Given the description of an element on the screen output the (x, y) to click on. 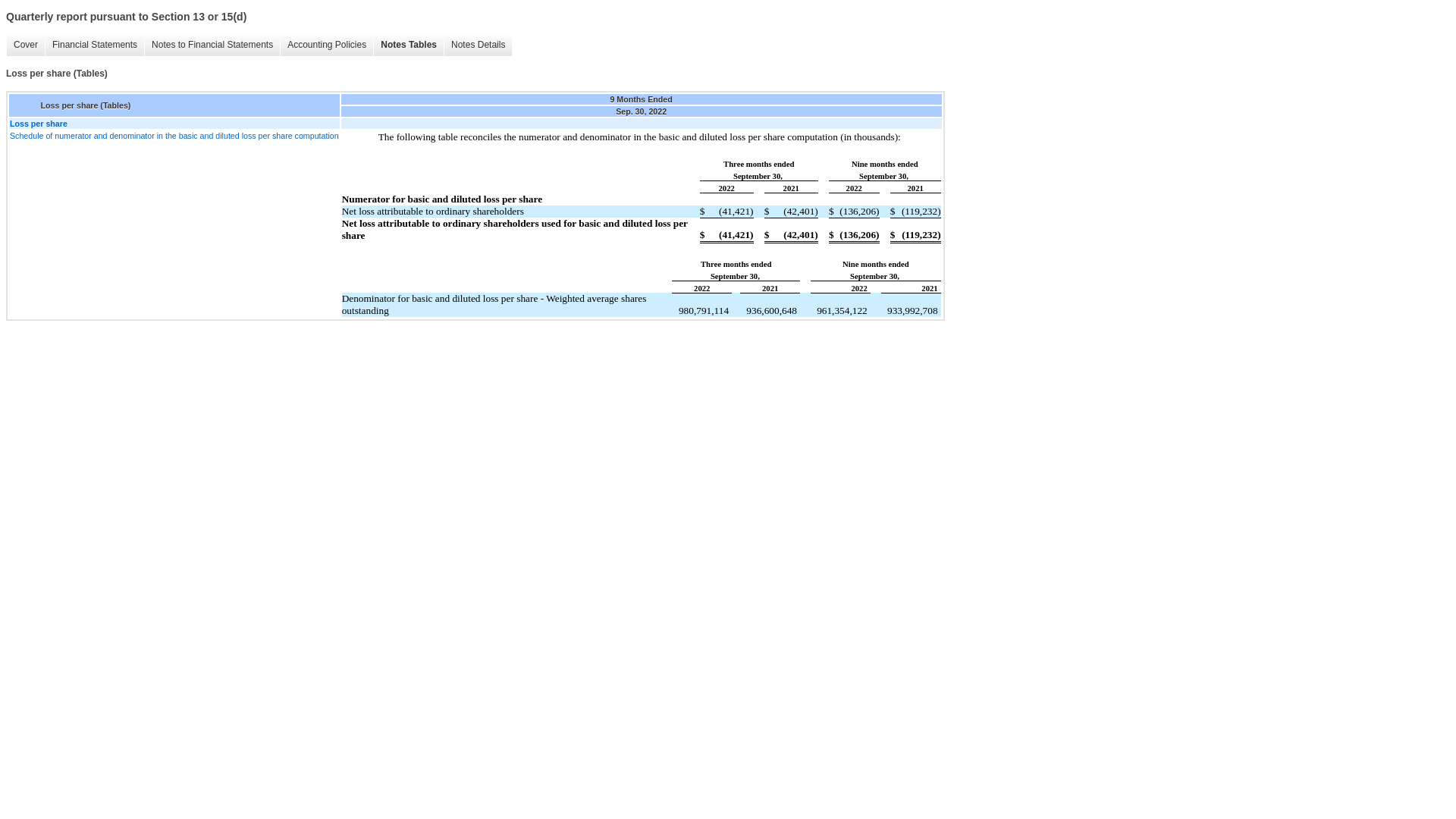
Notes Tables (408, 44)
Notes Details (478, 44)
Cover (25, 44)
Financial Statements (94, 44)
Accounting Policies (325, 44)
Notes to Financial Statements (211, 44)
